Given the description of an element on the screen output the (x, y) to click on. 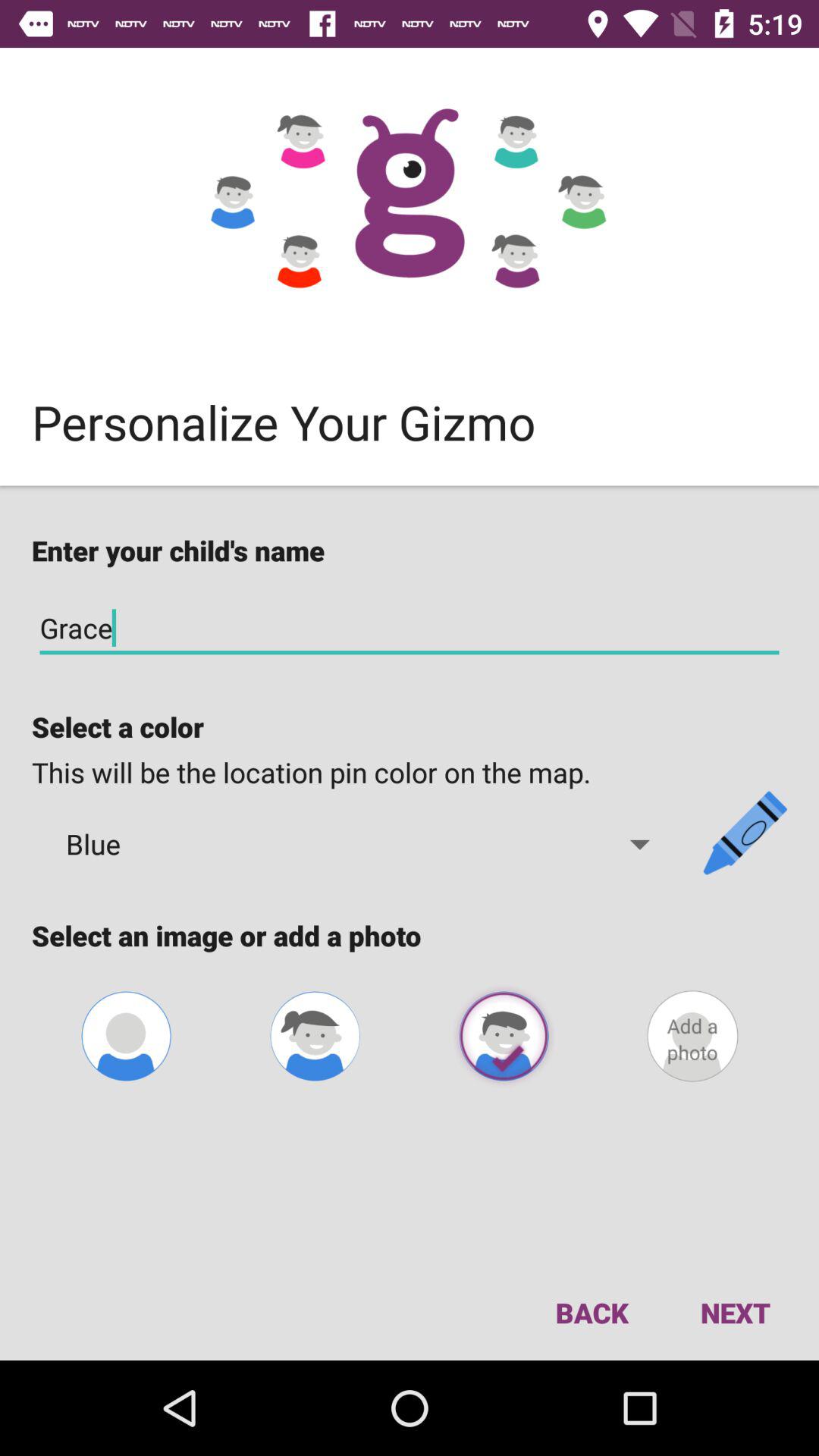
click on the third image under select an image or add a photo (504, 1035)
click on next at bottom right (735, 1312)
go to the photo beside female option (504, 1035)
drop down option below select a color option (359, 843)
select pencil symbol which is right to the blue option (745, 832)
